Given the description of an element on the screen output the (x, y) to click on. 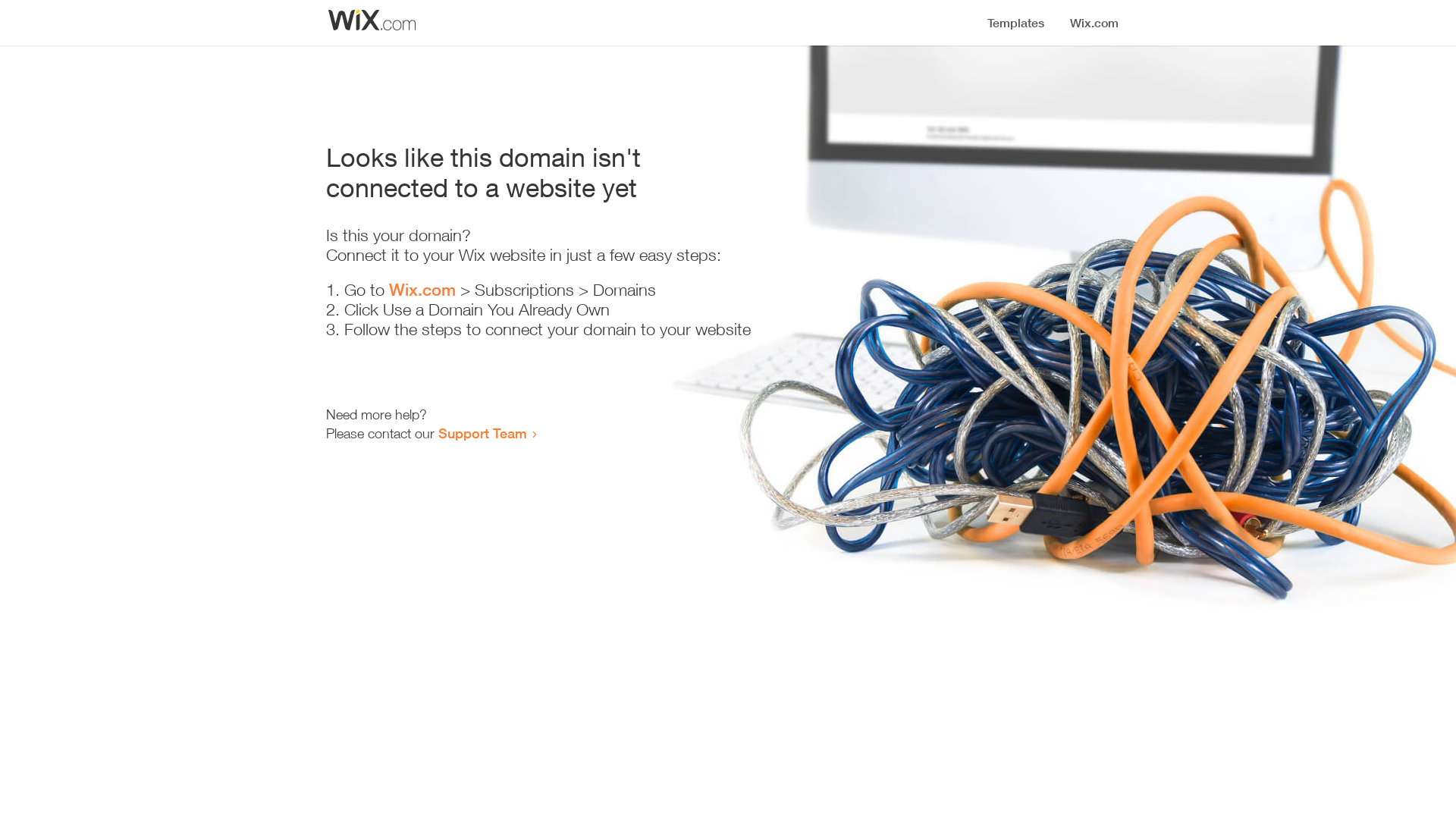
Support Team Element type: text (482, 432)
Wix.com Element type: text (422, 289)
